Given the description of an element on the screen output the (x, y) to click on. 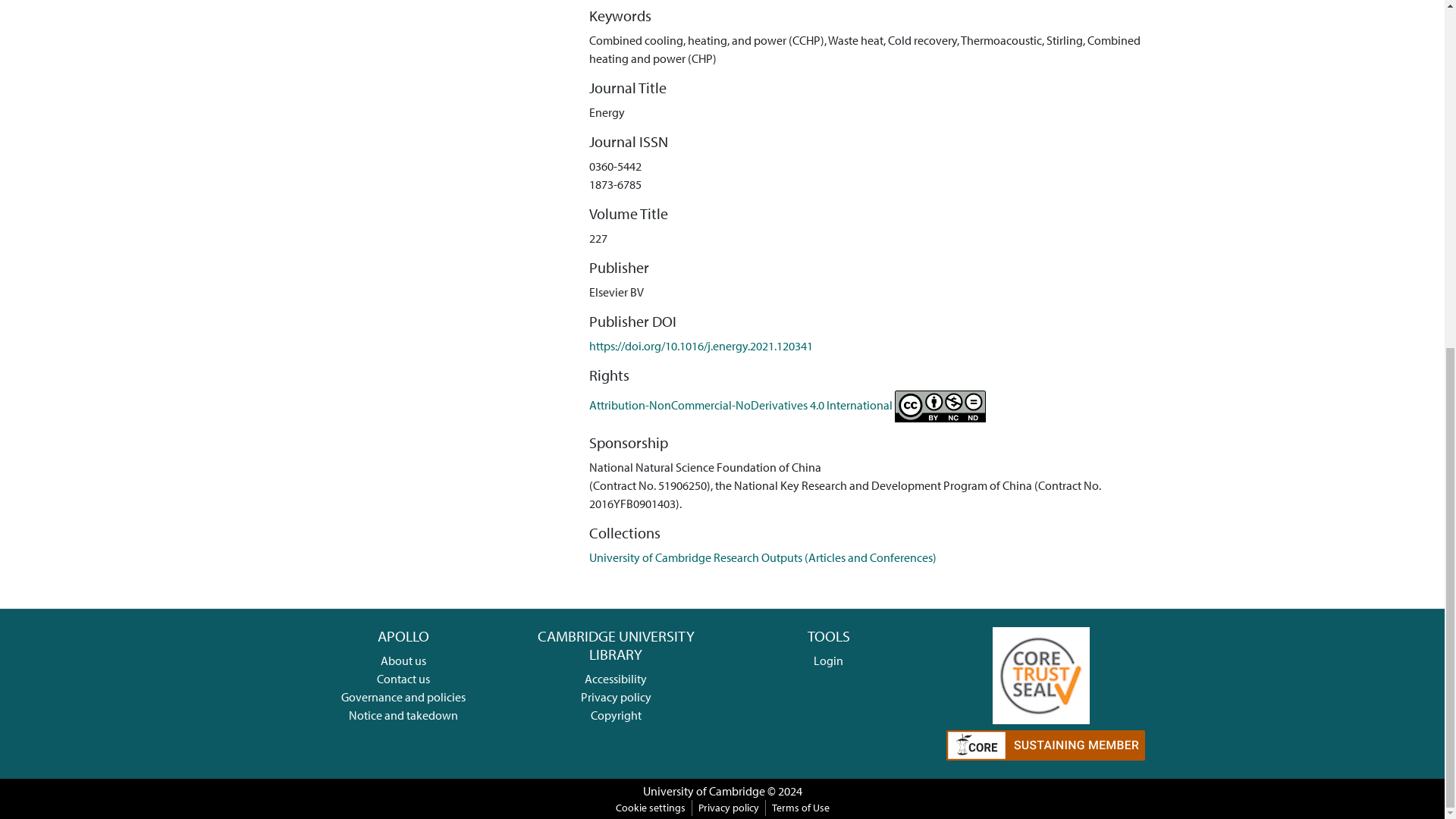
Notice and takedown (403, 714)
Accessibility (615, 678)
Privacy policy (615, 696)
Contact us (403, 678)
Attribution-NonCommercial-NoDerivatives 4.0 International (787, 404)
About us (403, 660)
Apollo CTS full application (1040, 673)
Governance and policies (402, 696)
